Given the description of an element on the screen output the (x, y) to click on. 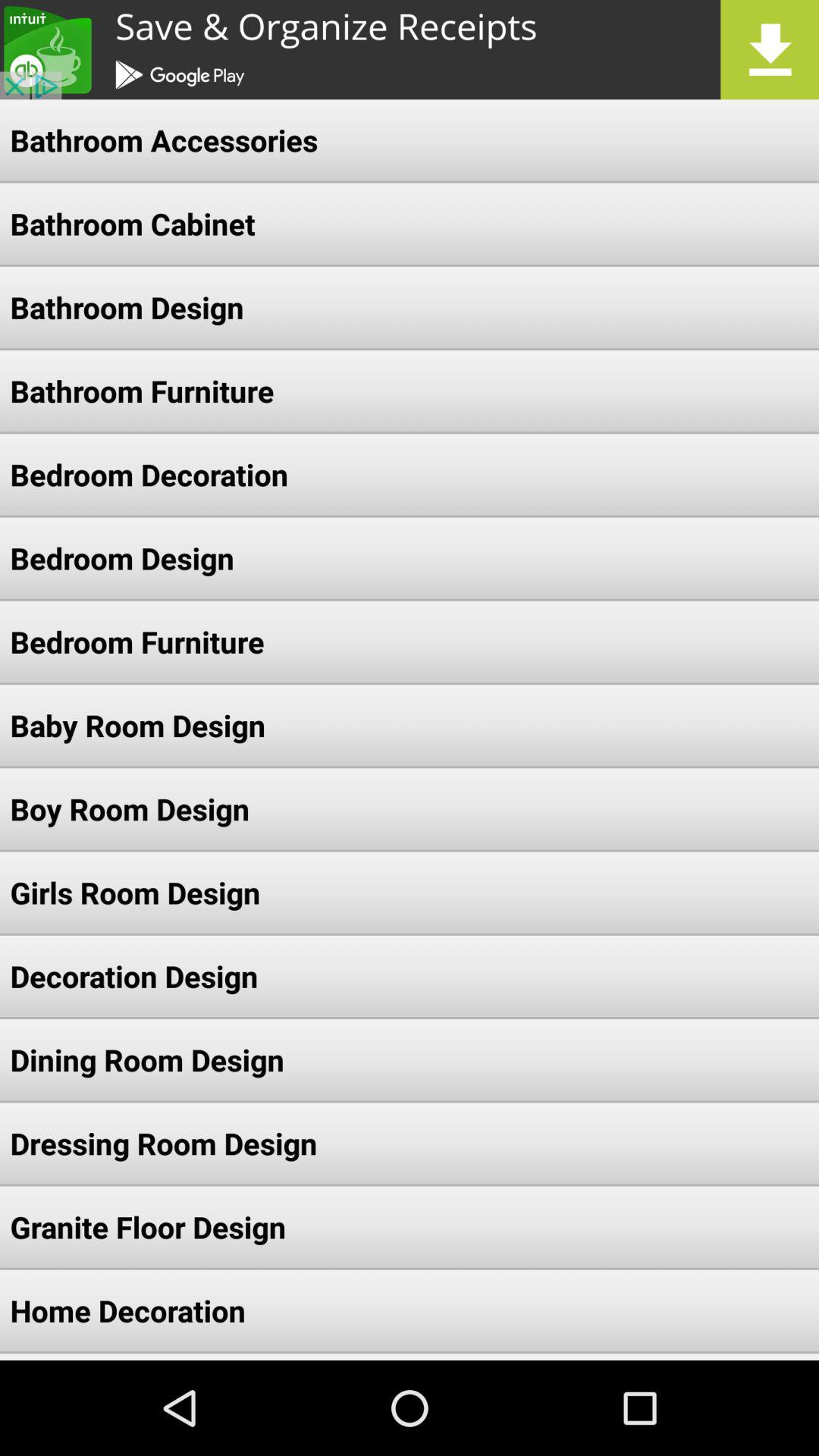
go to download (409, 49)
